Given the description of an element on the screen output the (x, y) to click on. 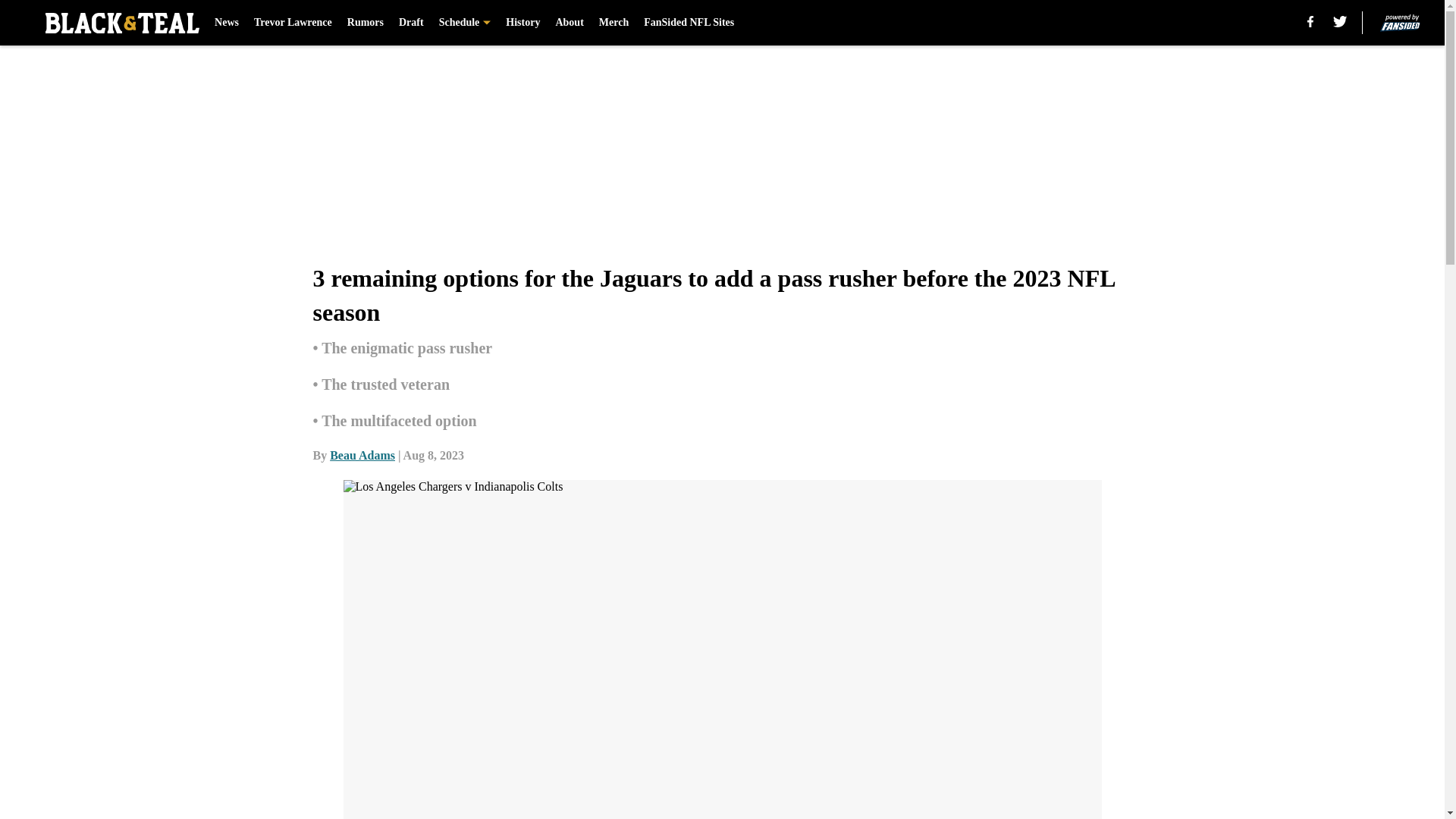
Trevor Lawrence (292, 22)
News (226, 22)
Beau Adams (362, 454)
Draft (410, 22)
FanSided NFL Sites (688, 22)
Merch (613, 22)
Rumors (365, 22)
History (522, 22)
About (568, 22)
